Given the description of an element on the screen output the (x, y) to click on. 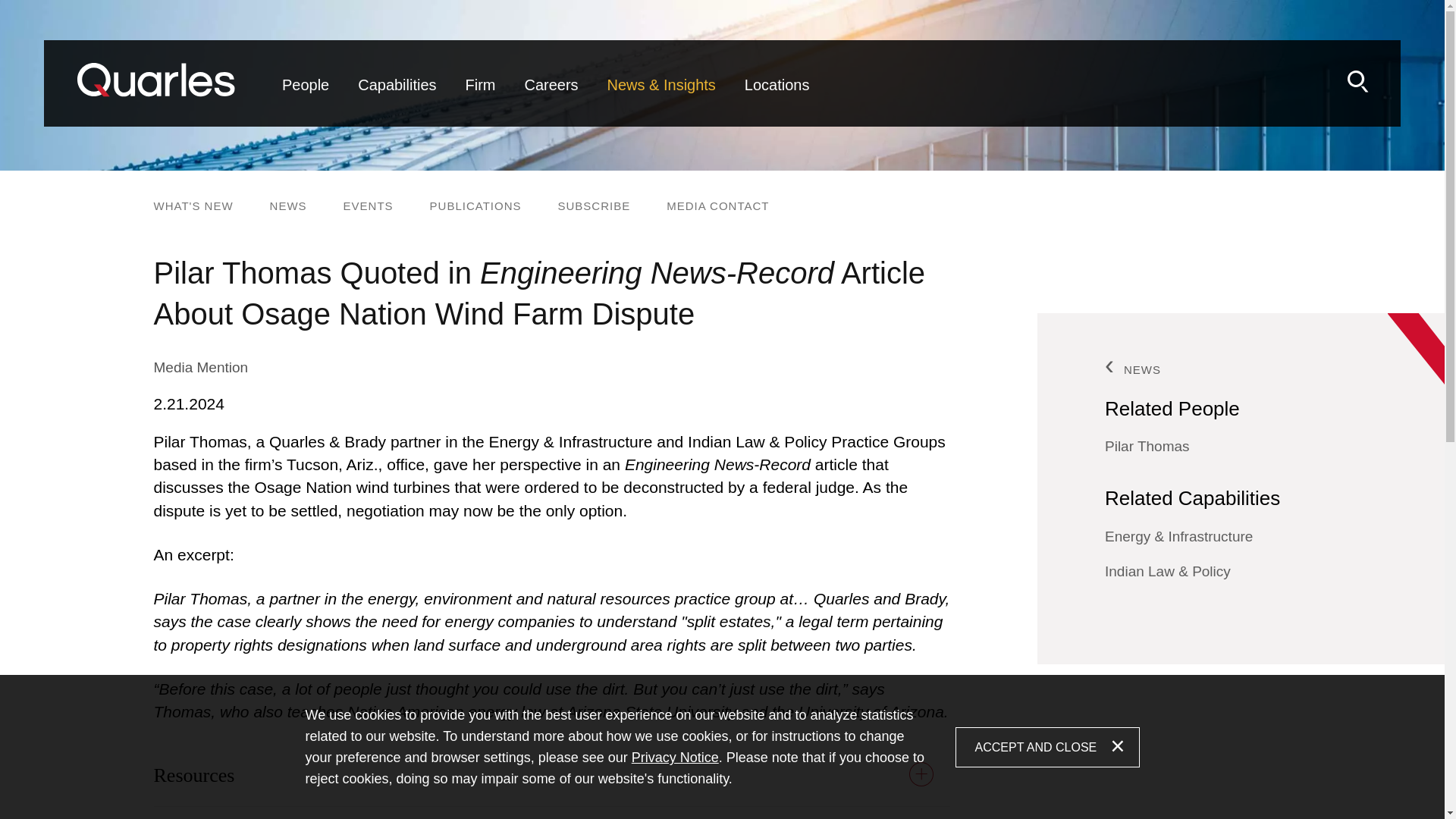
People (305, 97)
Main Content (663, 59)
Menu (671, 59)
Search (1358, 81)
Main Menu (671, 59)
Firm (480, 97)
Capabilities (396, 97)
